Given the description of an element on the screen output the (x, y) to click on. 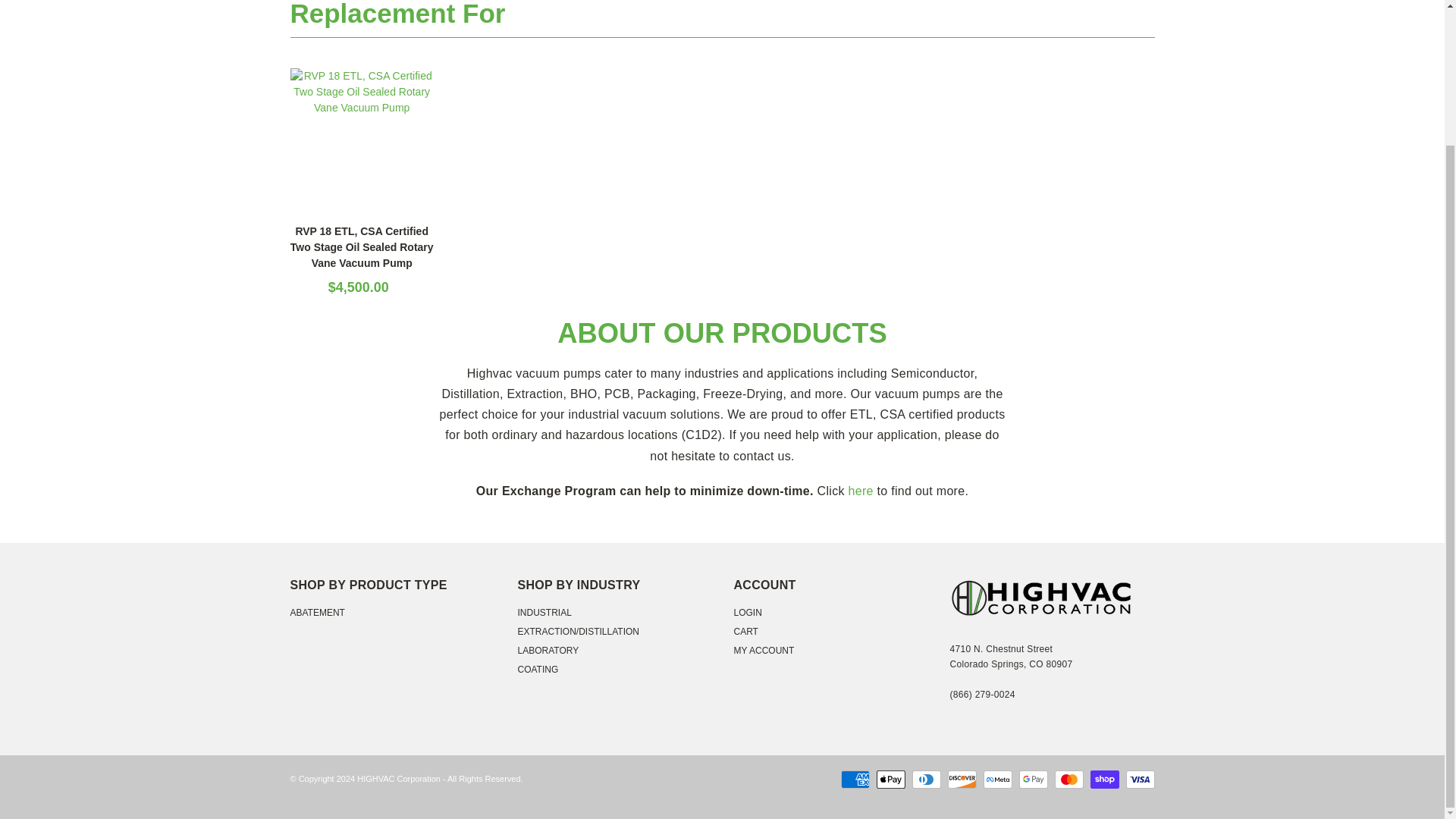
COATING (536, 669)
MY ACCOUNT (763, 650)
CART (745, 631)
INDUSTRIAL (543, 612)
LABORATORY (547, 650)
ABATEMENT (316, 612)
LOGIN (747, 612)
HIGHVAC Corporation (398, 777)
here (859, 490)
